Given the description of an element on the screen output the (x, y) to click on. 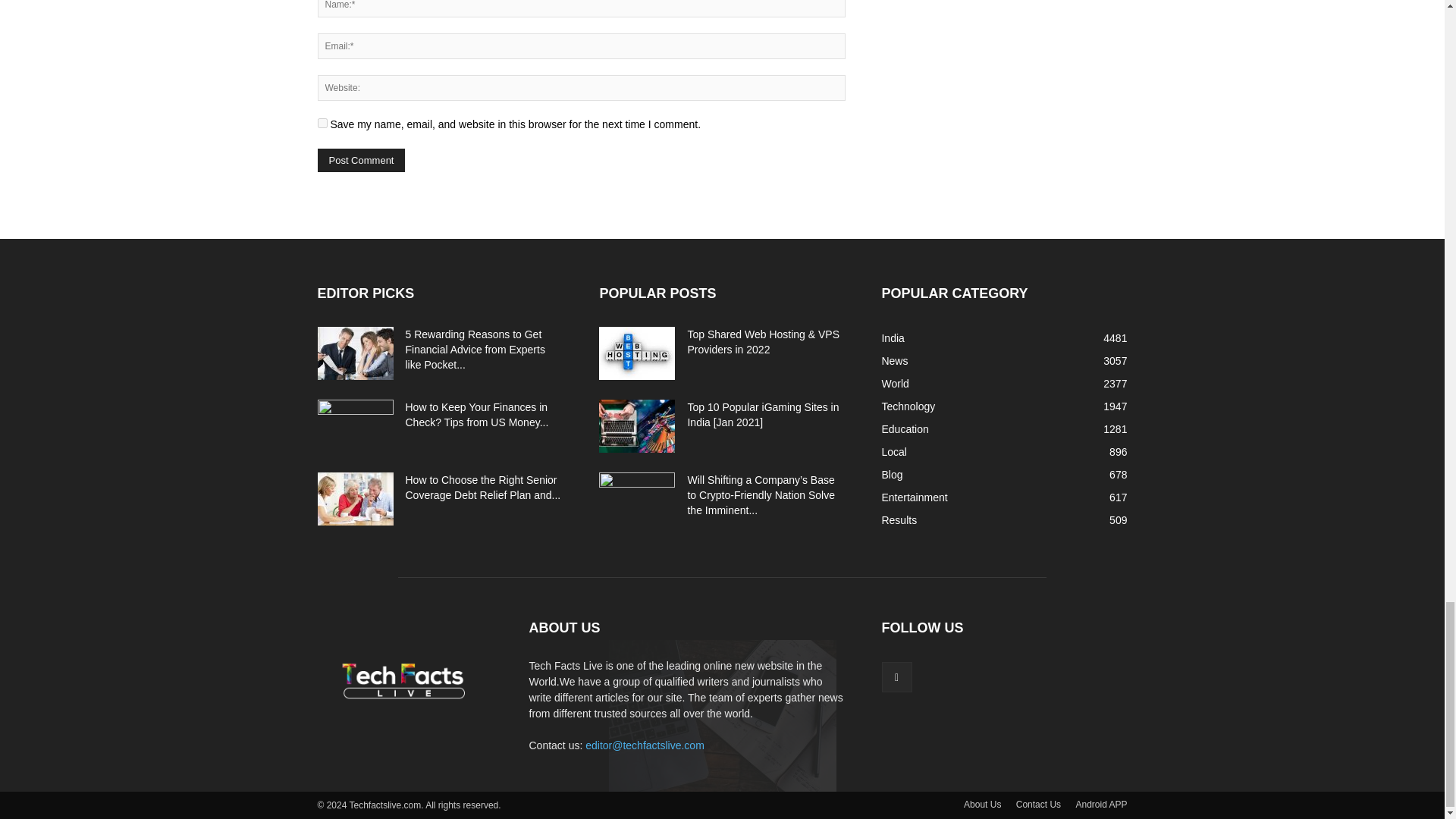
yes (321, 122)
Post Comment (360, 159)
